Given the description of an element on the screen output the (x, y) to click on. 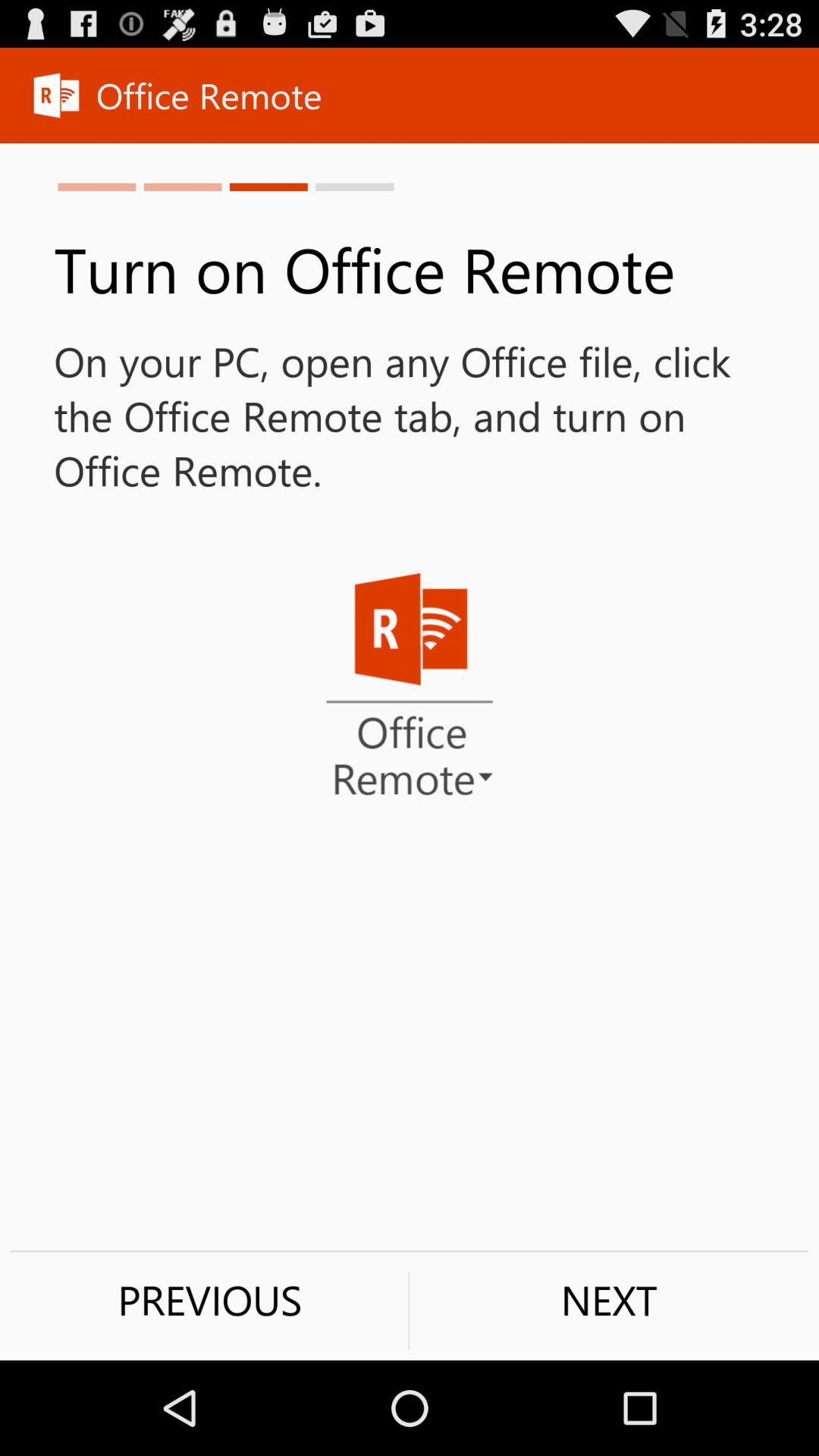
tap the button at the bottom left corner (209, 1300)
